Given the description of an element on the screen output the (x, y) to click on. 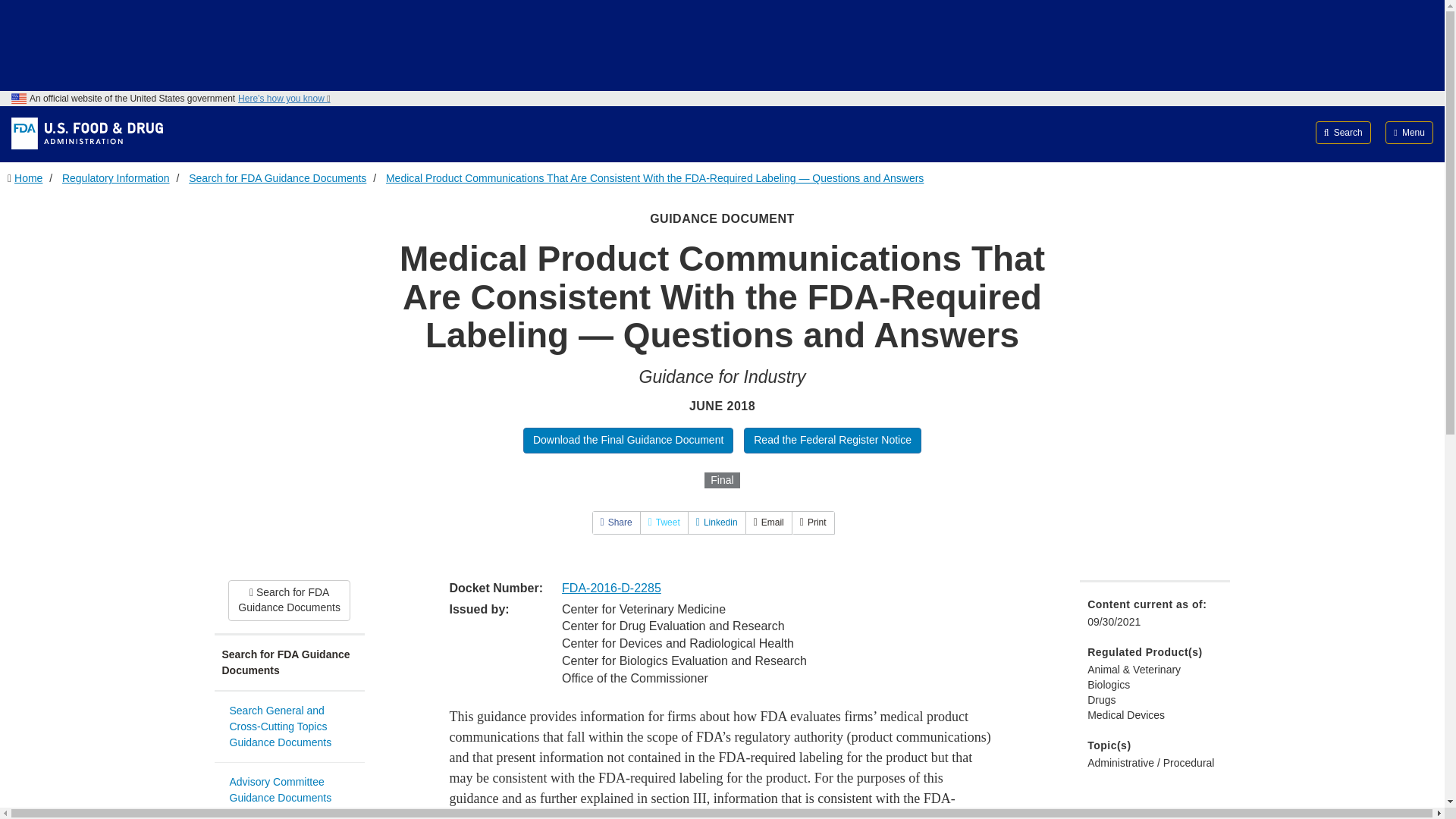
  Search (1343, 132)
Print this page (813, 522)
Search for FDA Guidance Documents (289, 663)
  Menu (1409, 132)
